Given the description of an element on the screen output the (x, y) to click on. 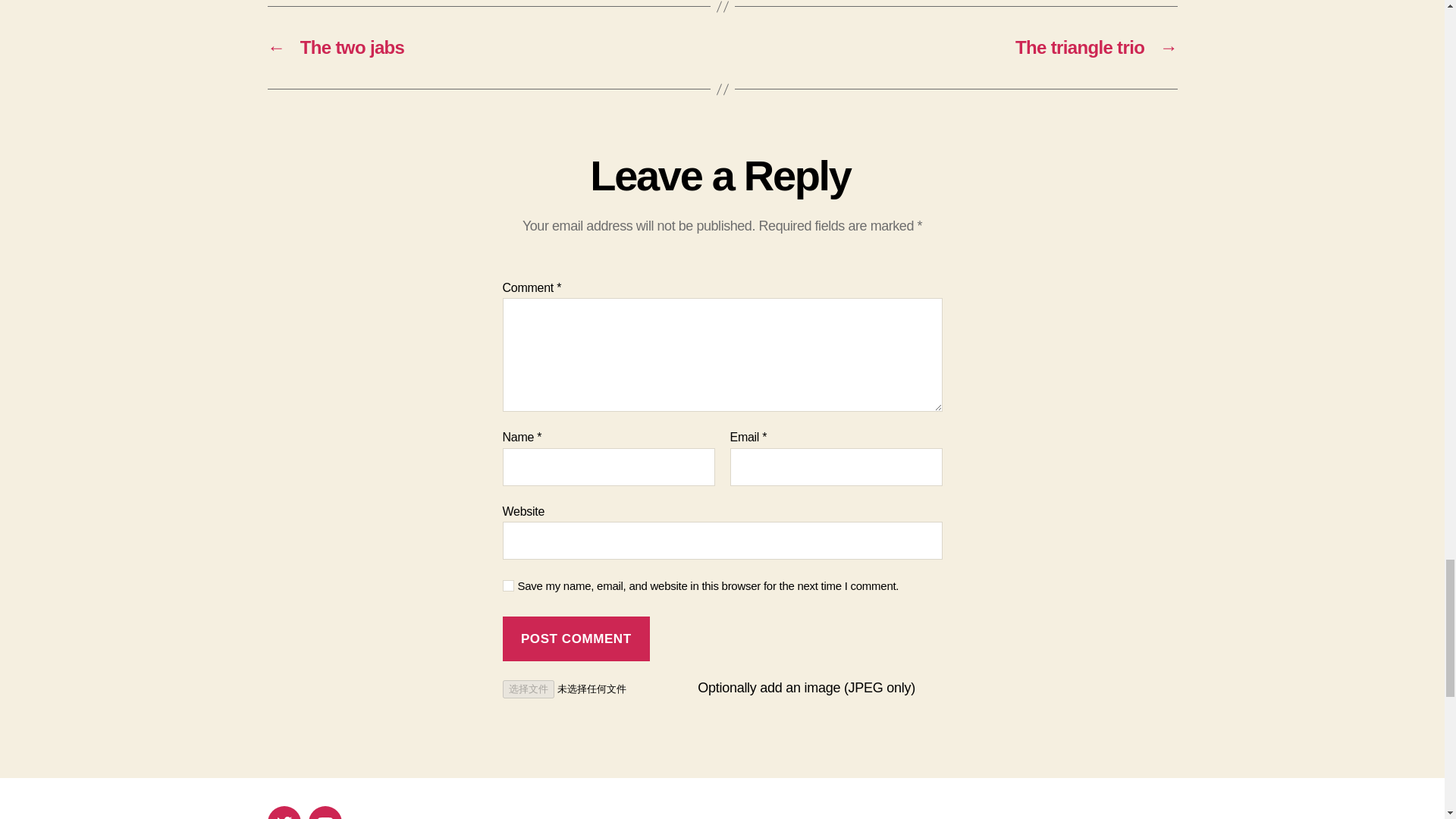
YouTube (323, 812)
Post Comment (575, 638)
Post Comment (575, 638)
yes (507, 585)
Twitter (282, 812)
